Given the description of an element on the screen output the (x, y) to click on. 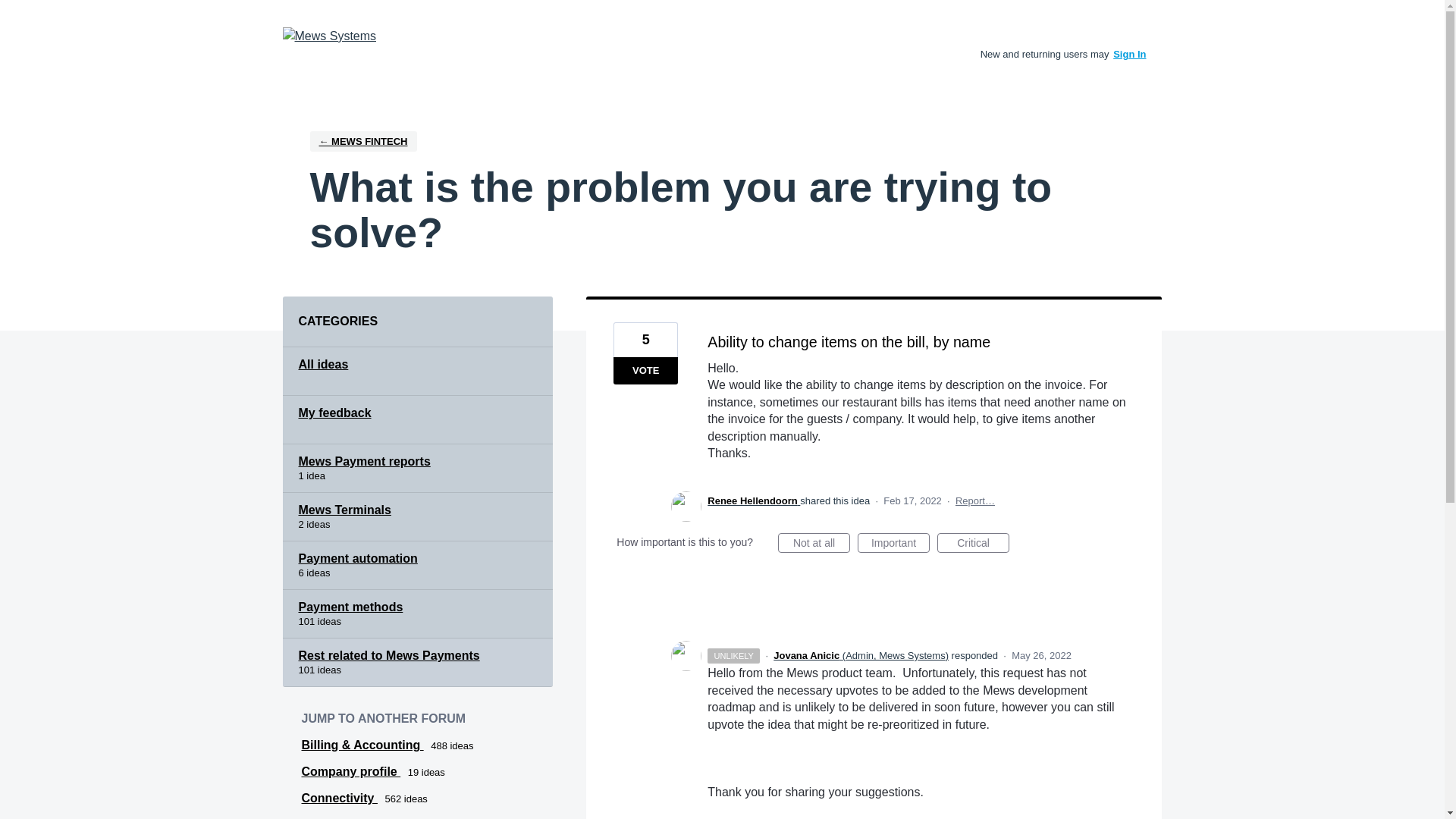
View all ideas in category Payment automation (417, 565)
Mews Terminals (417, 517)
Rest related to Mews Payments (417, 662)
Mews Payment reports (417, 468)
View all ideas in category Rest related to Mews Payments (417, 662)
Payment methods (417, 613)
View all ideas in category Mews Terminals (417, 517)
VOTE (645, 370)
Company profile (351, 771)
Product Ideas Forum (328, 36)
View all ideas in Company profile (351, 771)
All ideas (417, 371)
View all ideas in Connectivity (339, 797)
Sign In (1129, 53)
